Given the description of an element on the screen output the (x, y) to click on. 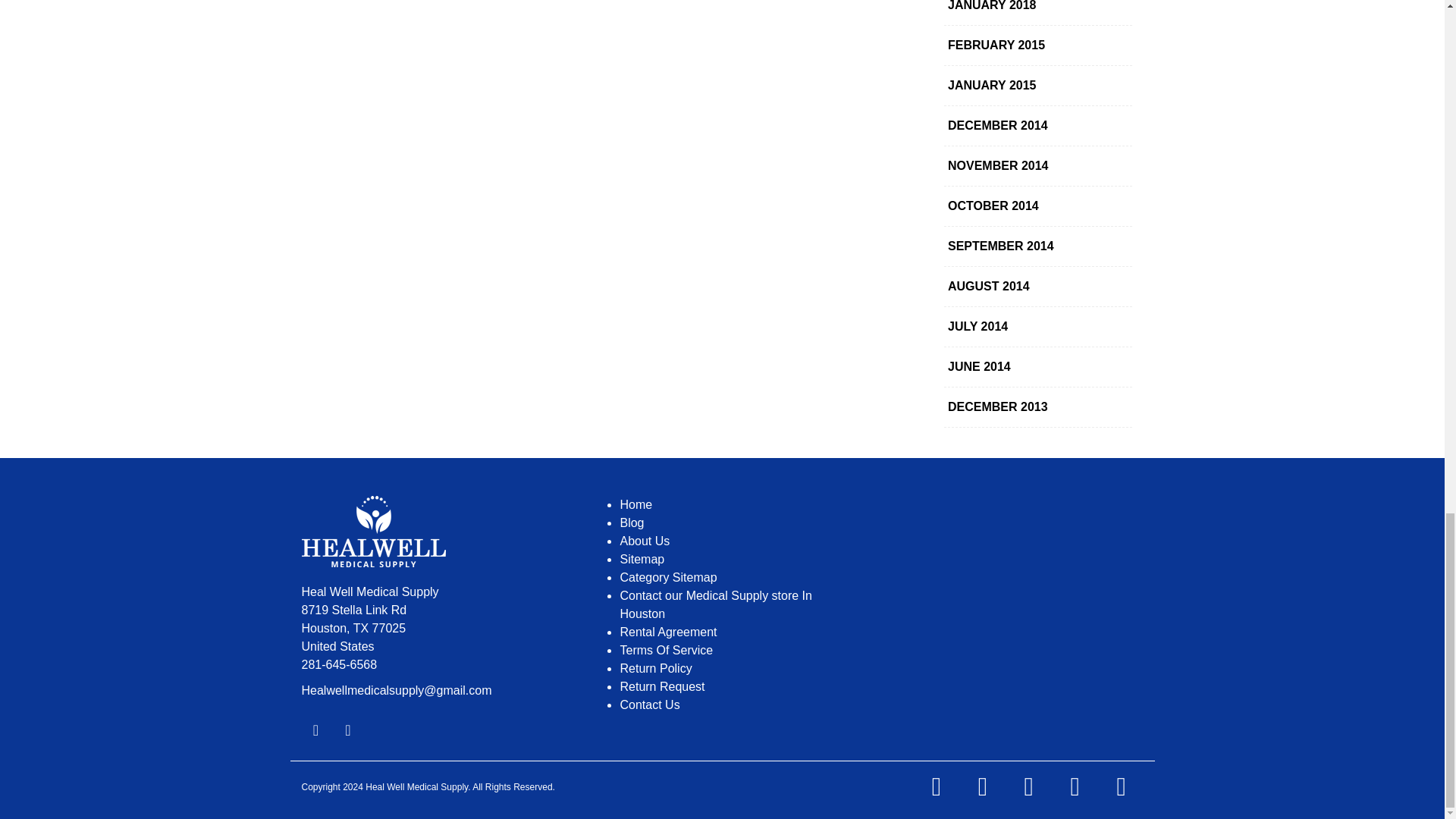
Rental Agreement (668, 631)
Like Us on Facebook (315, 730)
return request (662, 686)
Follow Us on Instagram (347, 730)
Return Policy (655, 667)
